Given the description of an element on the screen output the (x, y) to click on. 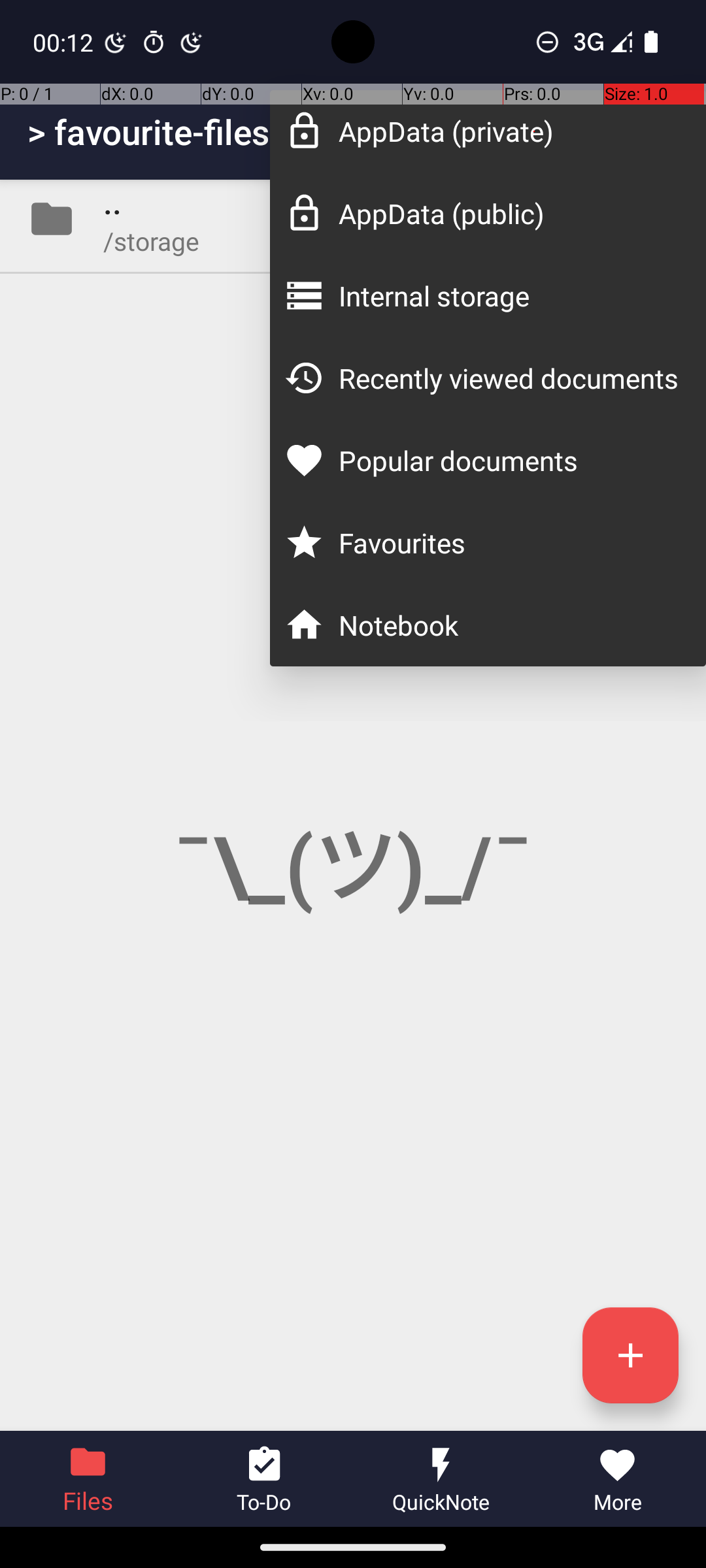
AppData (private) Element type: android.widget.TextView (508, 130)
AppData (public) Element type: android.widget.TextView (508, 212)
Internal storage Element type: android.widget.TextView (508, 295)
Recently viewed documents Element type: android.widget.TextView (508, 377)
Popular documents Element type: android.widget.TextView (508, 459)
Favourites Element type: android.widget.TextView (508, 542)
Notebook Element type: android.widget.TextView (508, 624)
00:12 Element type: android.widget.TextView (64, 41)
Digital Wellbeing notification: Bedtime mode is on Element type: android.widget.ImageView (115, 41)
Digital Wellbeing notification: Do Not Disturb for Bedtime mode Element type: android.widget.ImageView (191, 41)
